Given the description of an element on the screen output the (x, y) to click on. 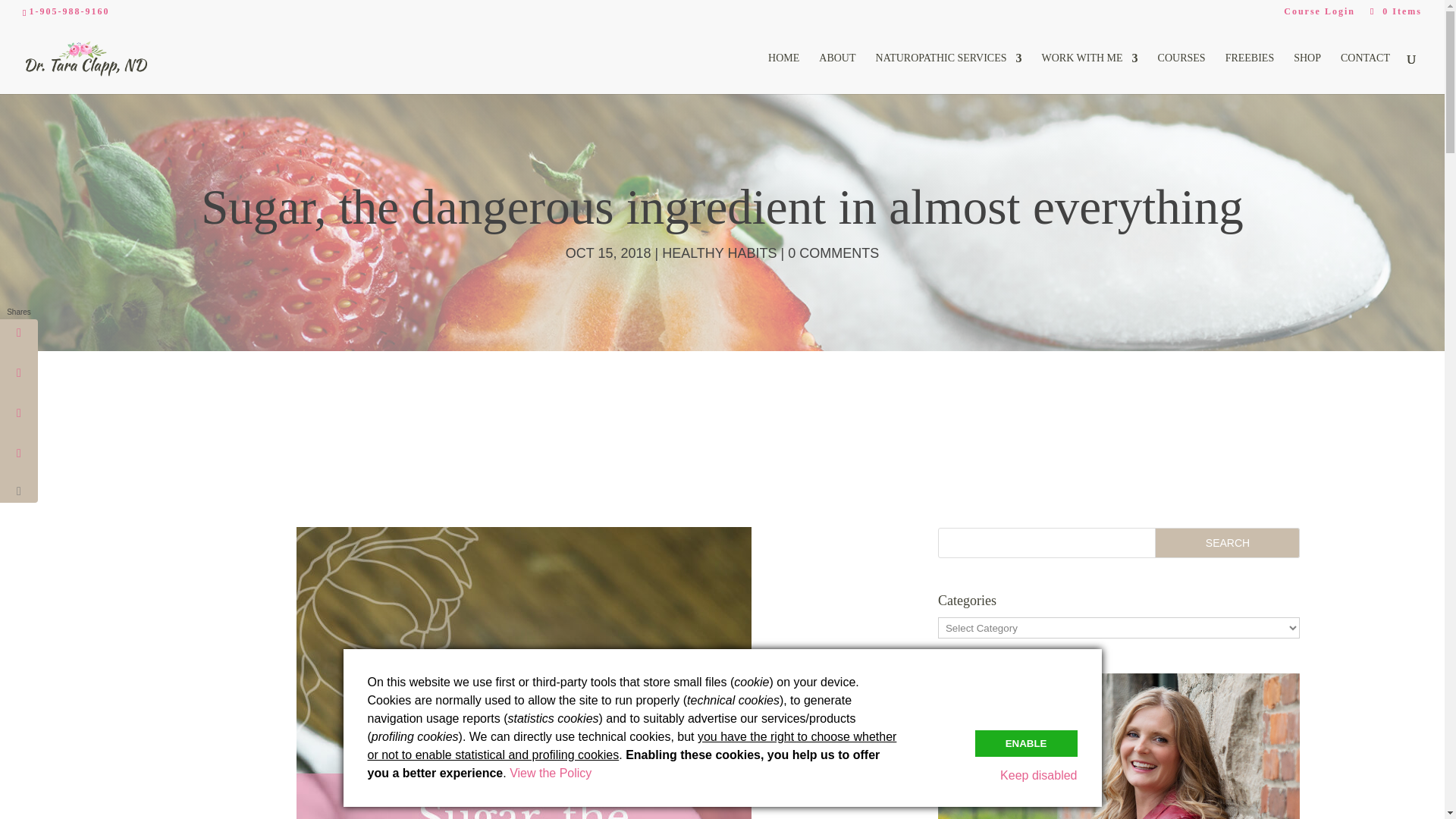
Search (1227, 542)
WORK WITH ME (1090, 73)
FREEBIES (1250, 73)
ABOUT (837, 73)
COURSES (1181, 73)
0 Items (1394, 10)
NATUROPATHIC SERVICES (949, 73)
1-905-988-9160 (69, 10)
CONTACT (1365, 73)
Course Login (1319, 14)
